Given the description of an element on the screen output the (x, y) to click on. 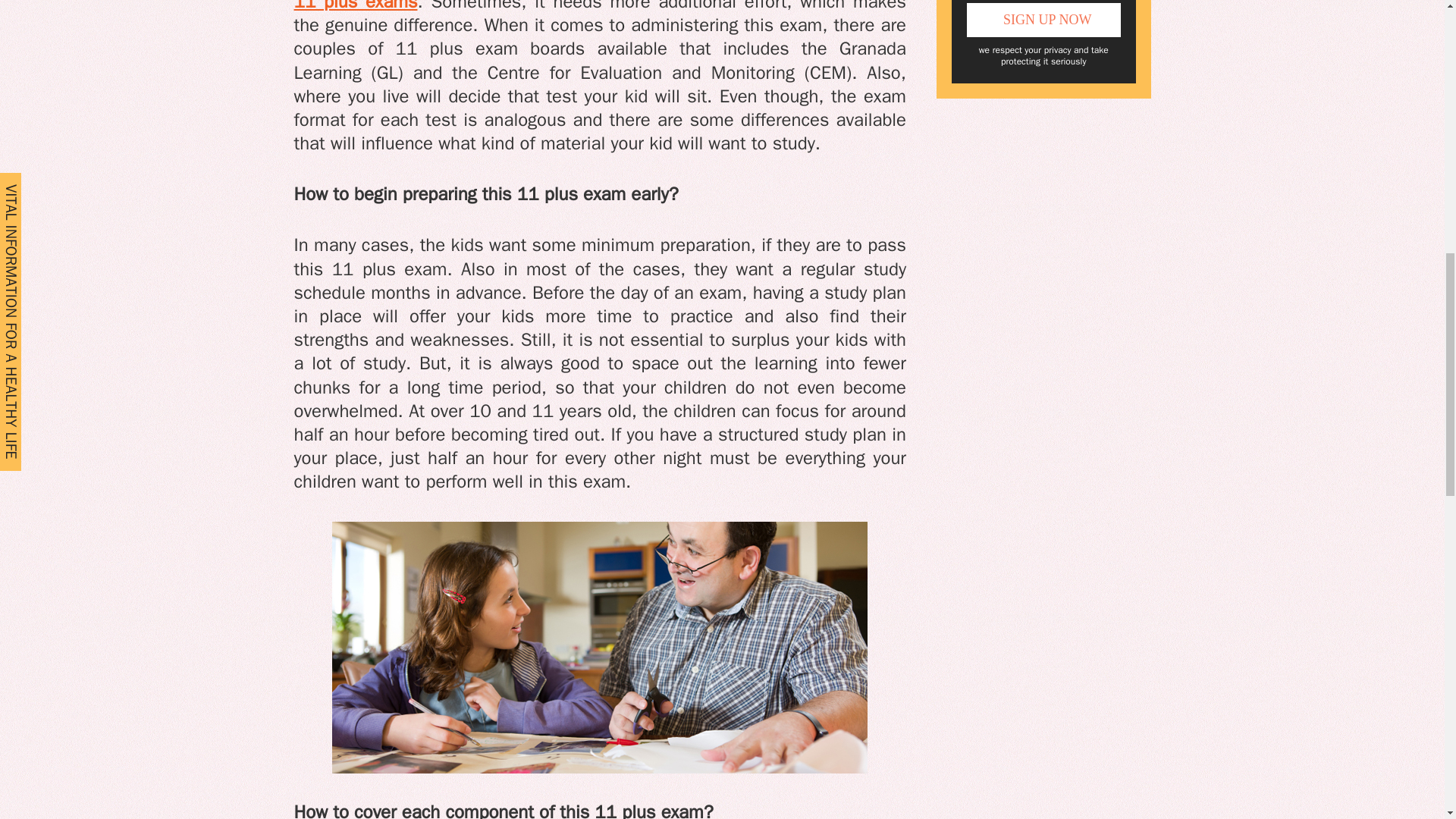
11 plus exams (355, 6)
Sign Up Now (1043, 19)
Sign Up Now (1043, 19)
